Given the description of an element on the screen output the (x, y) to click on. 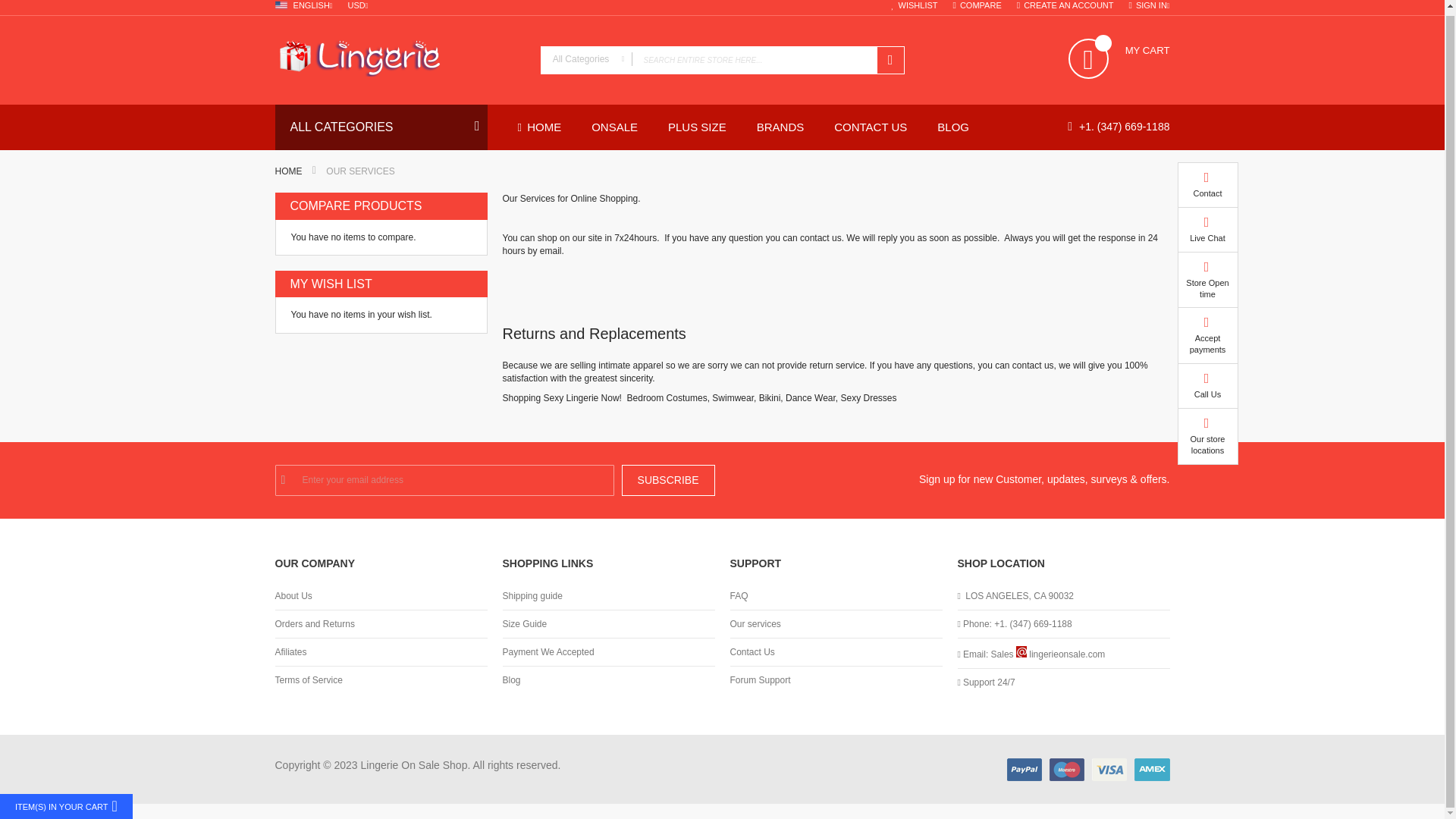
Lingerie On Sale Shop (399, 58)
COMPARE (977, 5)
WISHLIST (914, 5)
Compare (977, 5)
All Categories (586, 59)
Go to Home Page (288, 171)
Search (889, 59)
CREATE AN ACCOUNT (1064, 5)
